Given the description of an element on the screen output the (x, y) to click on. 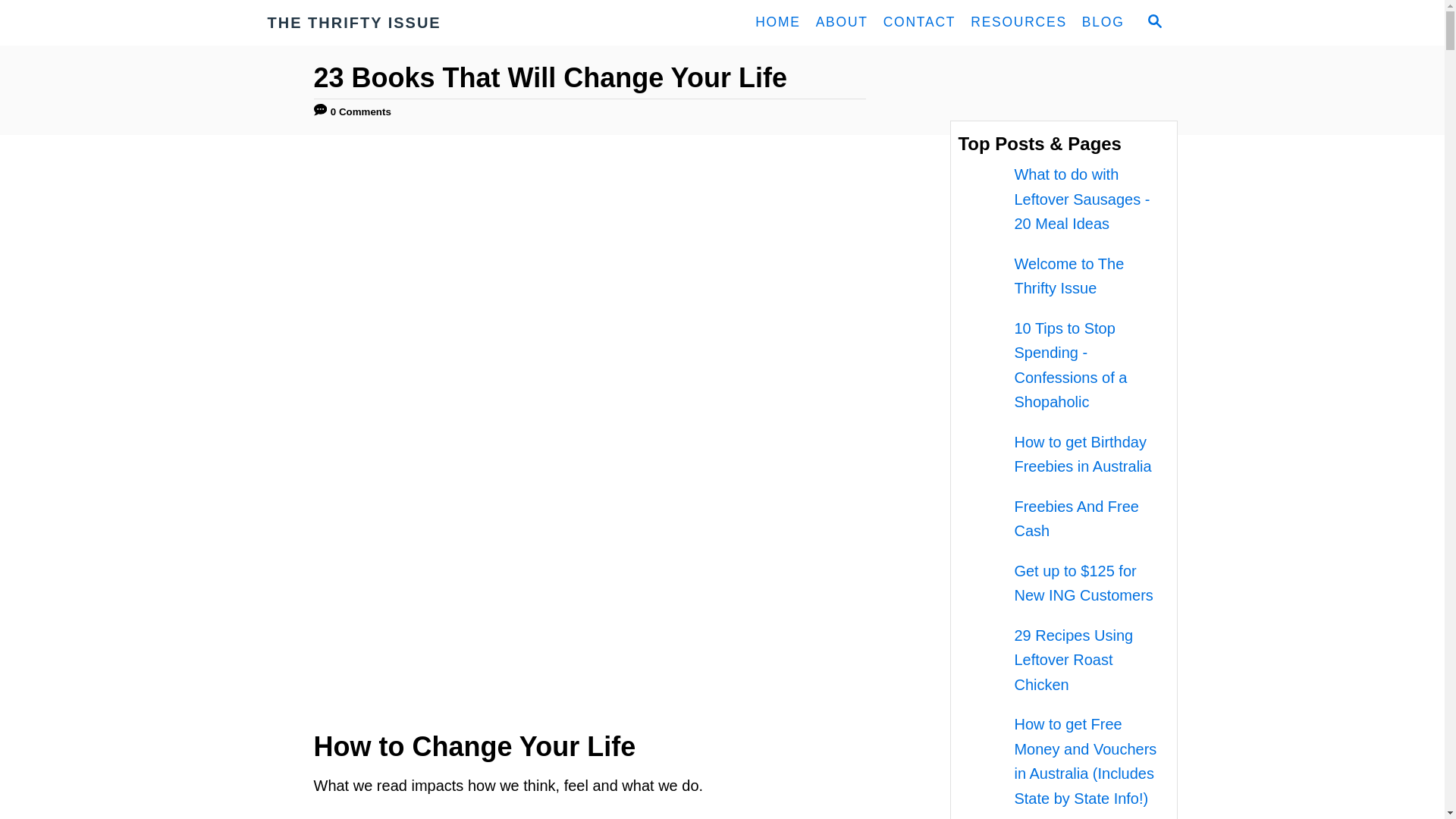
CONTACT (919, 22)
10 Tips to Stop Spending - Confessions of a Shopaholic (1069, 365)
What to do with Leftover Sausages - 20 Meal Ideas (1081, 198)
ABOUT (842, 22)
THE THRIFTY ISSUE (403, 22)
Welcome to The Thrifty Issue (1068, 276)
BLOG (1103, 22)
The Thrifty Issue (403, 22)
RESOURCES (1018, 22)
SEARCH (1153, 22)
